Given the description of an element on the screen output the (x, y) to click on. 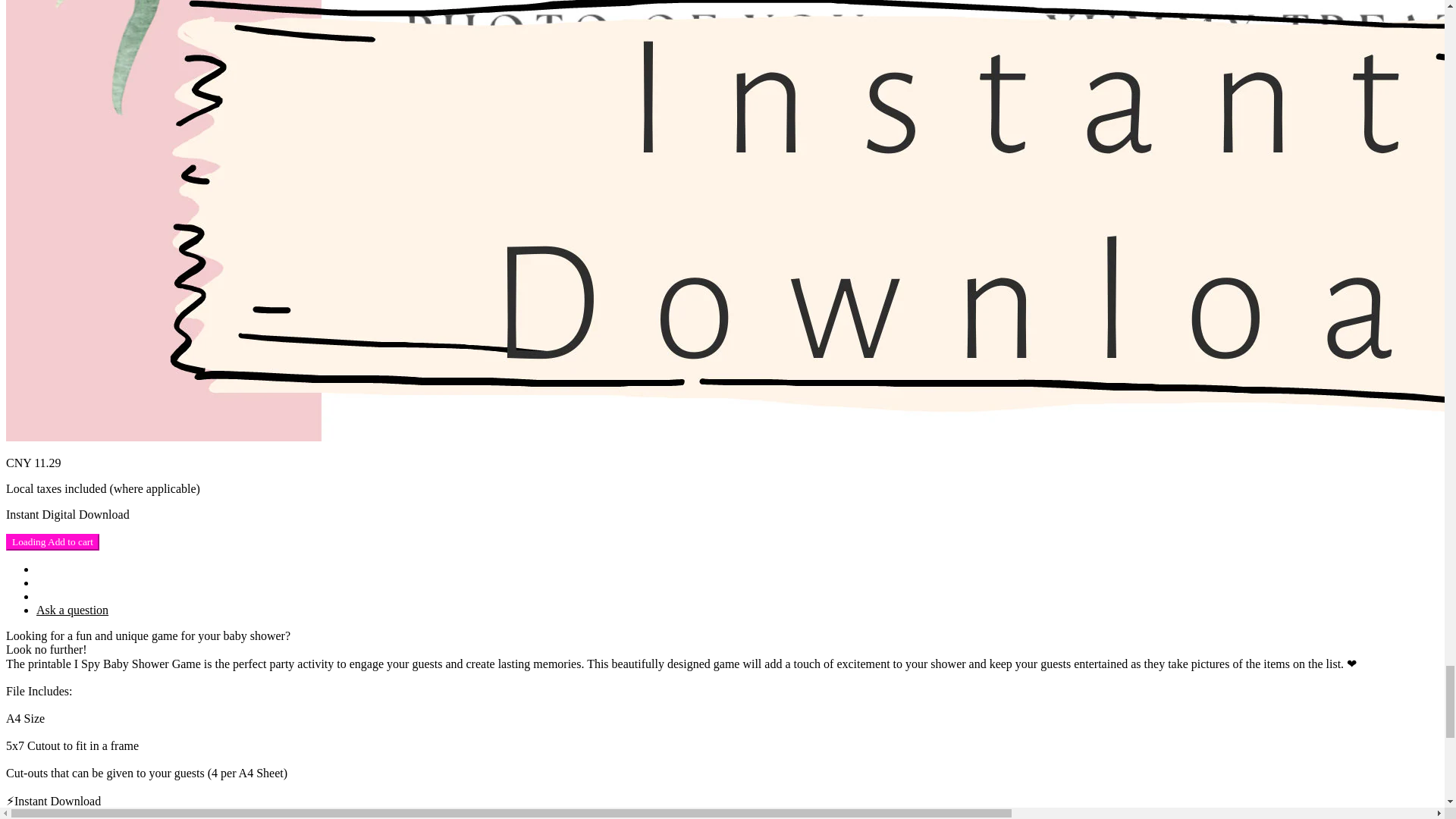
Ask a question (71, 609)
Loading Add to cart (52, 541)
